Given the description of an element on the screen output the (x, y) to click on. 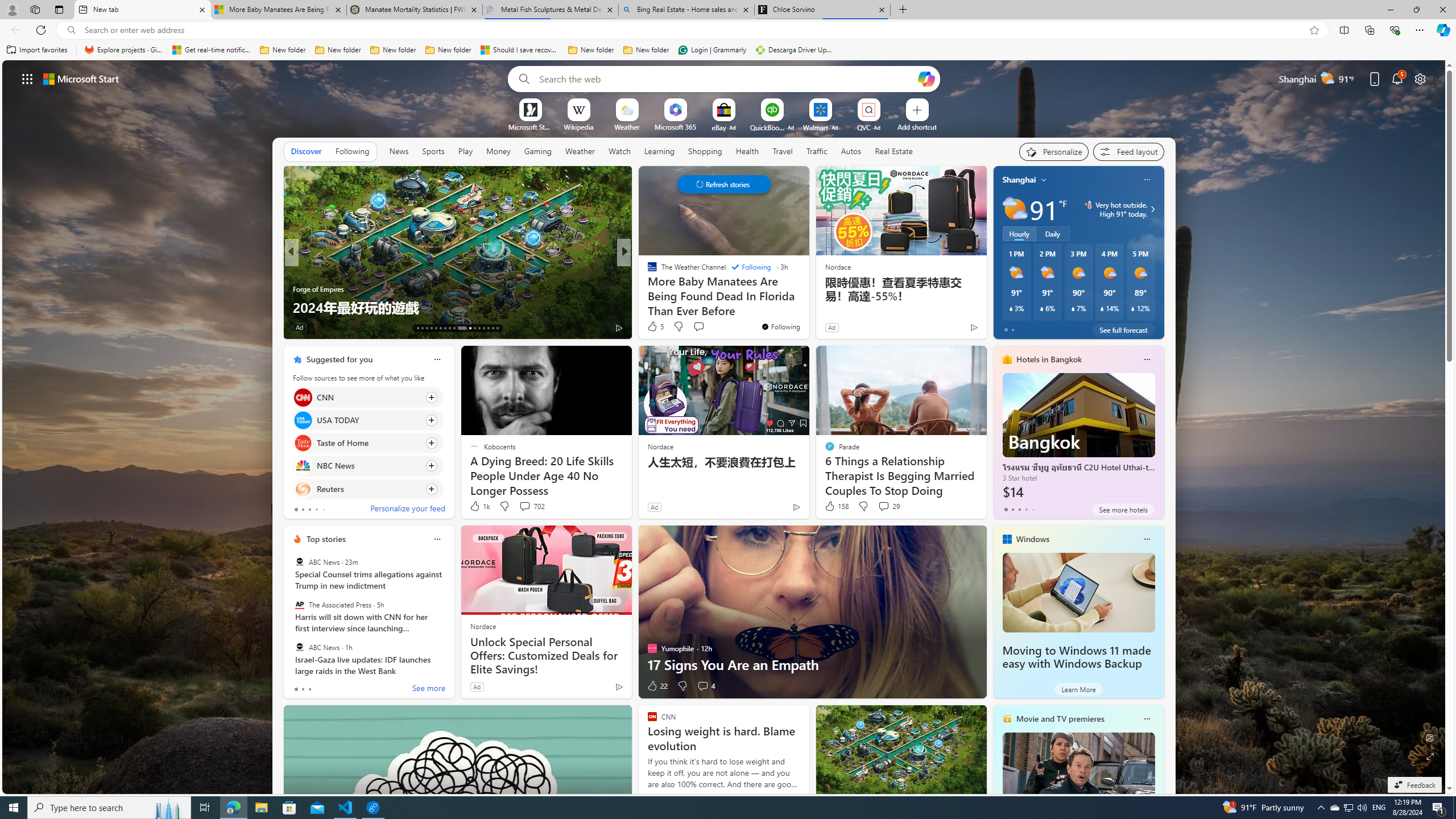
Address and search bar (692, 29)
CNBC (647, 270)
Shopping (705, 151)
View comments 2 Comment (702, 327)
CNN (302, 397)
Login | Grammarly (712, 49)
Click to follow source Taste of Home (367, 442)
